Given the description of an element on the screen output the (x, y) to click on. 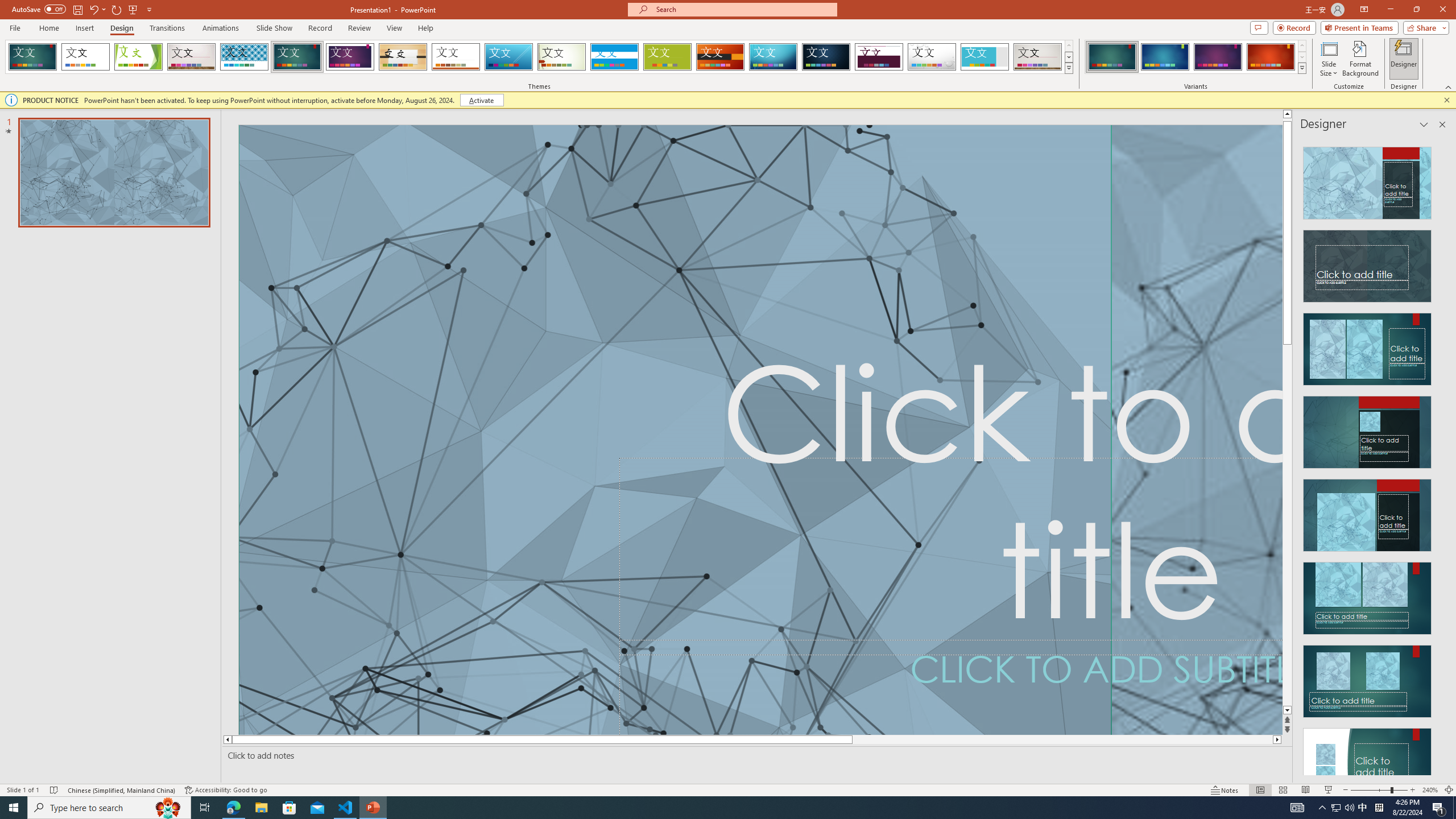
Class: NetUIScrollBar (1441, 456)
Close pane (1441, 124)
Redo (117, 9)
Close this message (1446, 99)
Close (1442, 9)
Home (48, 28)
Notes  (1225, 790)
Customize Quick Access Toolbar (149, 9)
Ion Boardroom (350, 56)
Minimize (1390, 9)
Slide (114, 172)
Class: MsoCommandBar (728, 789)
Wisp (561, 56)
AutomationID: SlideThemesGallery (539, 56)
